Given the description of an element on the screen output the (x, y) to click on. 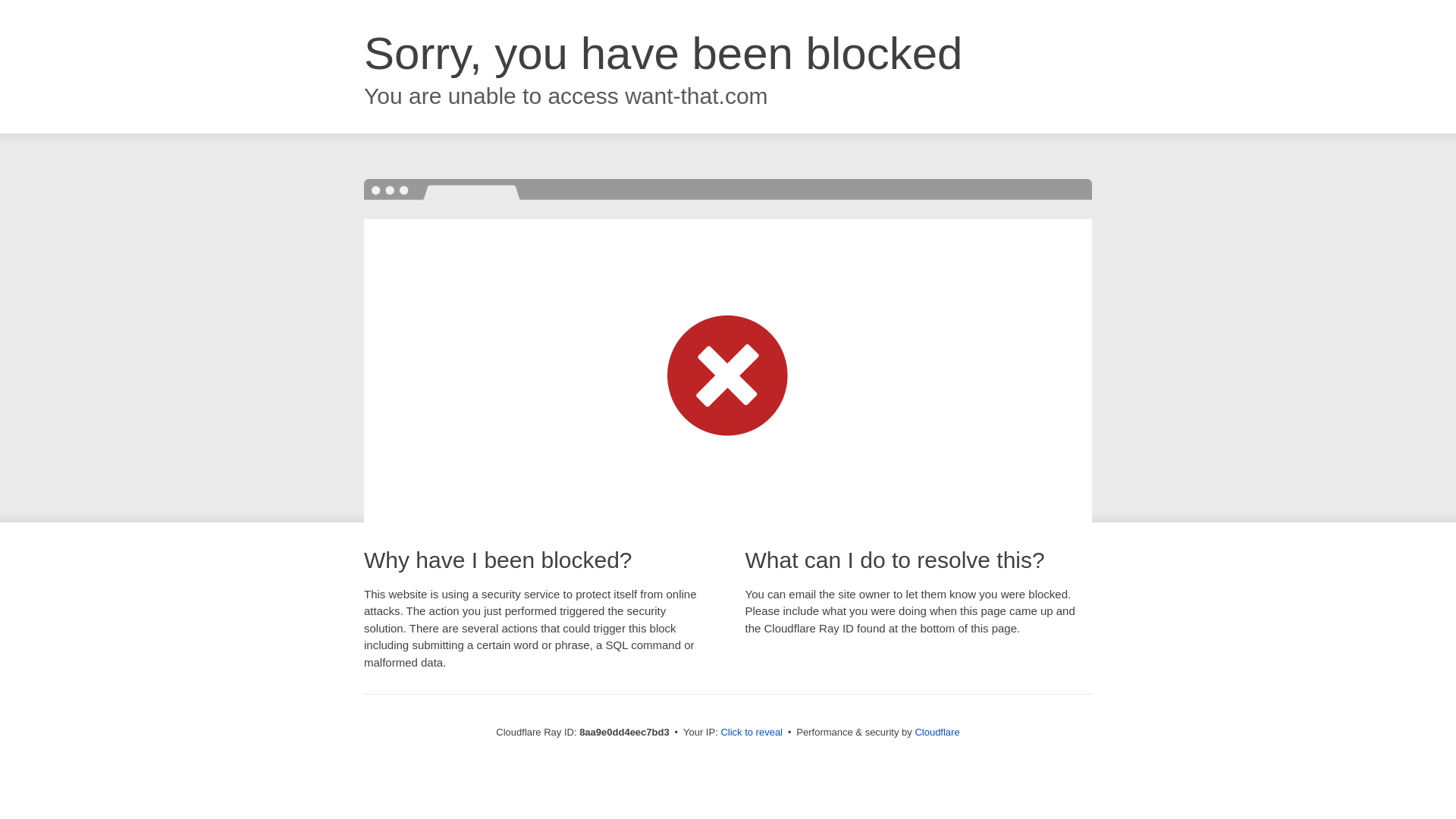
Click to reveal (751, 732)
Cloudflare (936, 731)
